Given the description of an element on the screen output the (x, y) to click on. 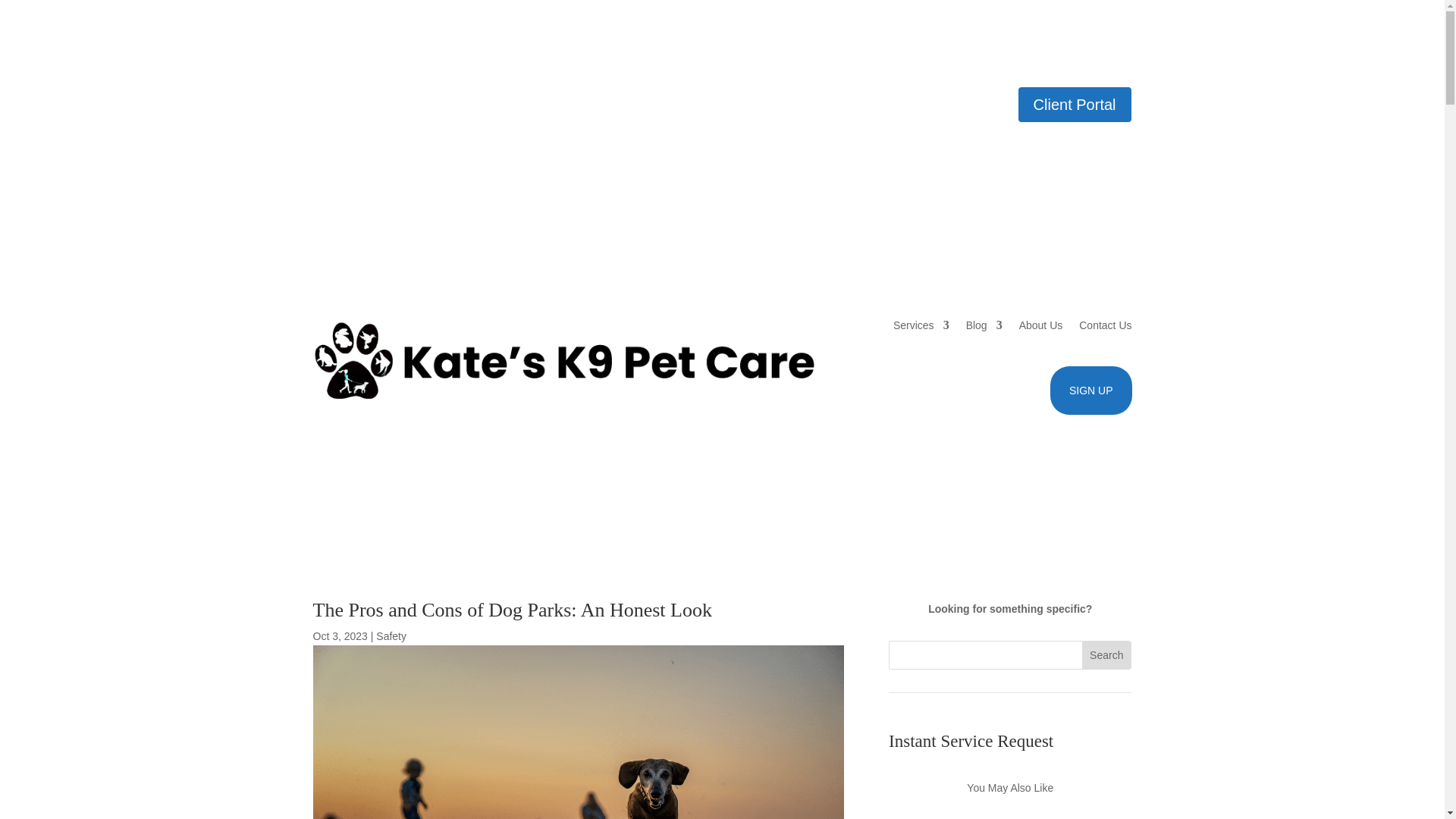
Search (1106, 655)
dogparks (578, 732)
Safety (390, 635)
Contact Us (1104, 324)
Search (1106, 655)
SIGN UP (1090, 390)
Client Portal (1074, 104)
Services (921, 324)
